Given the description of an element on the screen output the (x, y) to click on. 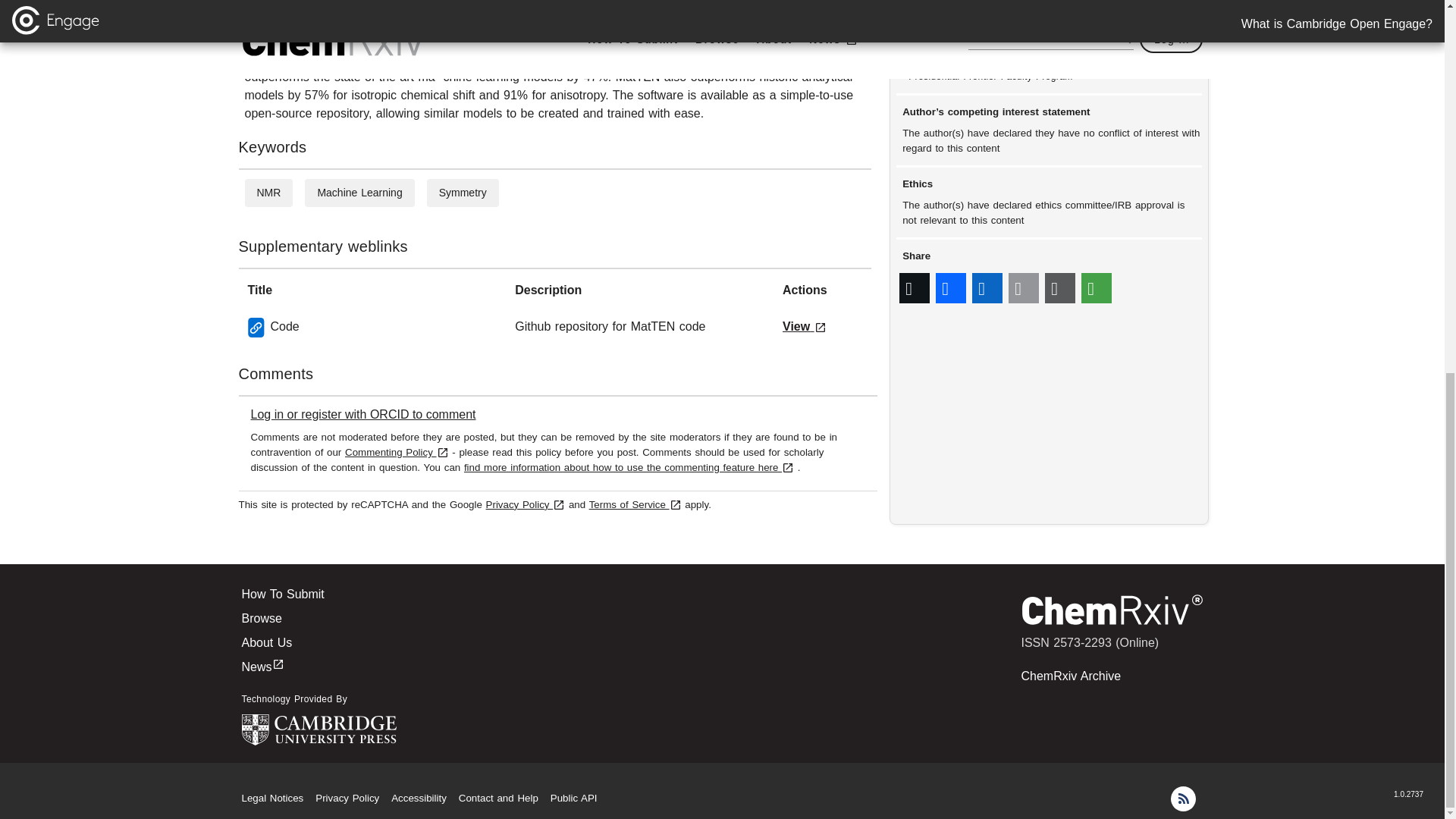
LinkedIn (987, 288)
Print (1060, 288)
Email This (1024, 288)
Symmetry (462, 192)
Machine Learning (359, 192)
View (805, 326)
More Options (1096, 288)
NMR (268, 192)
Facebook (951, 288)
Log in or register with ORCID to comment (363, 414)
